Given the description of an element on the screen output the (x, y) to click on. 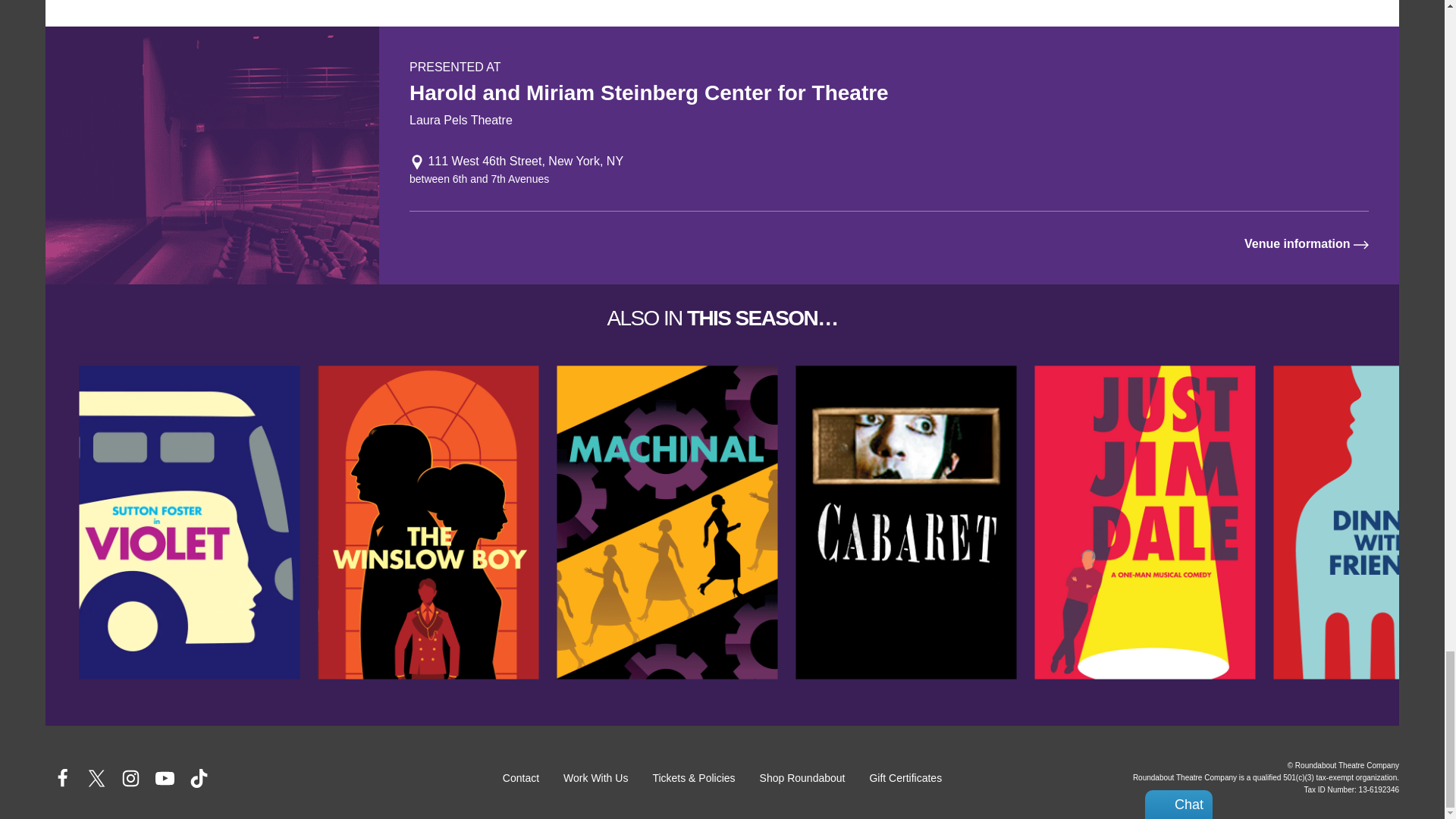
DINNER WITH FRIENDS (1362, 522)
CABARET (906, 522)
THE WINSLOW BOY (427, 522)
THE WINSLOW BOY (427, 522)
VIOLET (188, 522)
VIOLET (188, 522)
MACHINAL (666, 522)
CABARET (906, 522)
JUST JIM DALE (1144, 522)
MACHINAL (666, 522)
JUST JIM DALE (1144, 522)
DINNER WITH FRIENDS (1362, 522)
